Given the description of an element on the screen output the (x, y) to click on. 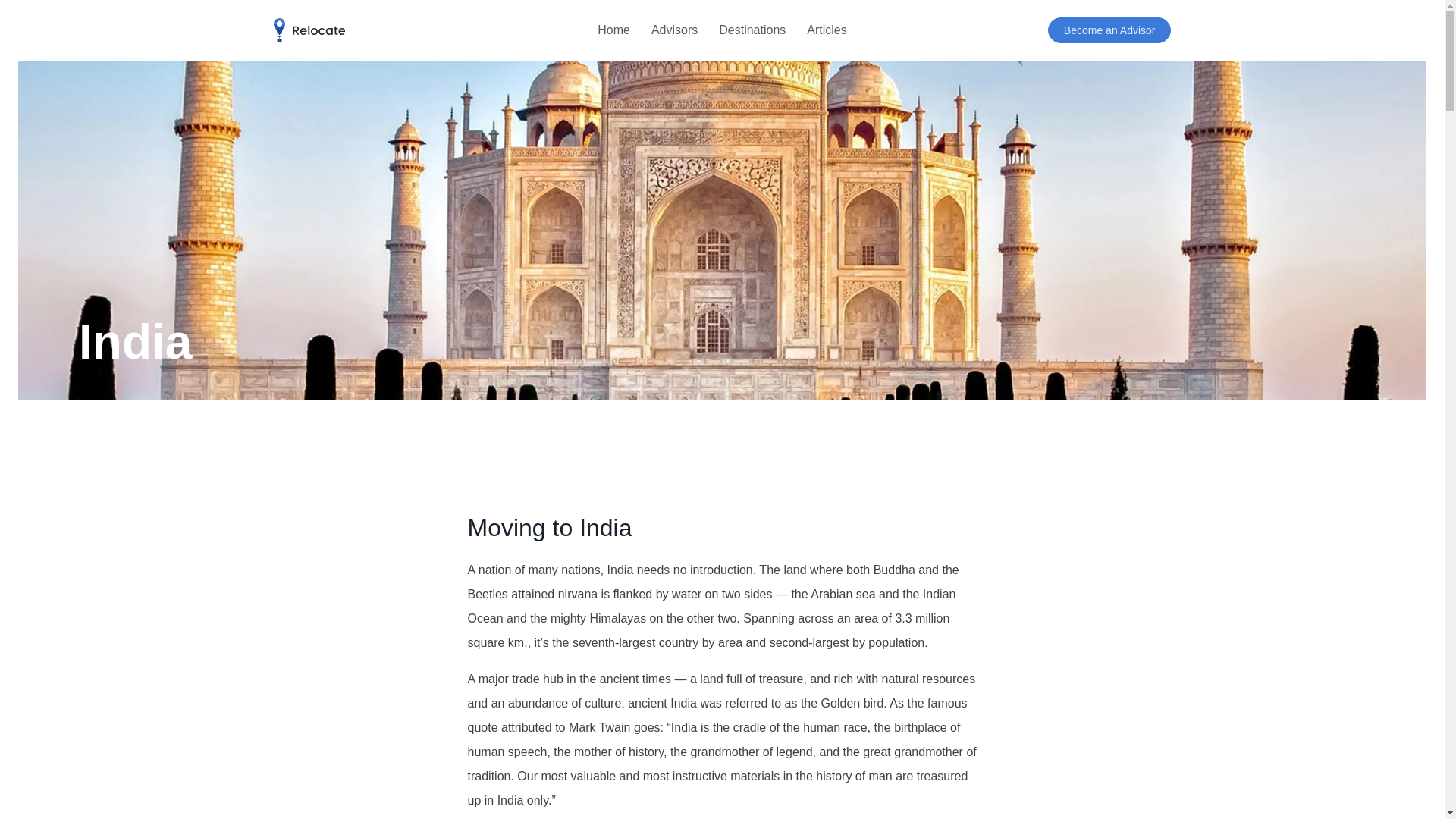
Become an Advisor (1110, 30)
Advisors (673, 29)
Articles (826, 29)
Home (613, 29)
Destinations (752, 29)
